Given the description of an element on the screen output the (x, y) to click on. 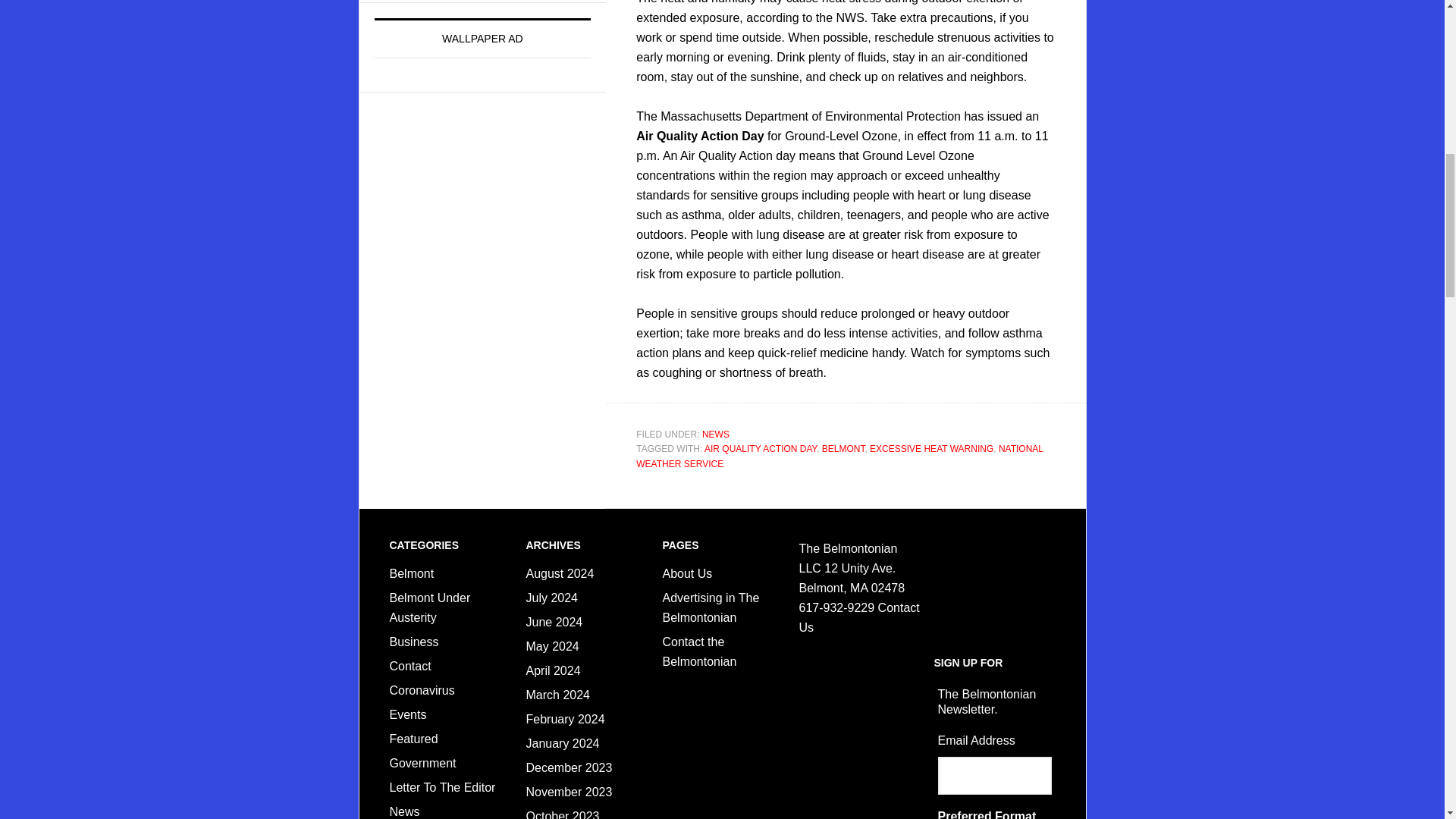
Featured (414, 738)
NEWS (715, 434)
Business (414, 641)
News (405, 811)
Belmont Under Austerity (430, 607)
Contact (410, 666)
NATIONAL WEATHER SERVICE (839, 456)
EXCESSIVE HEAT WARNING (930, 448)
Coronavirus (422, 689)
AIR QUALITY ACTION DAY (760, 448)
